Given the description of an element on the screen output the (x, y) to click on. 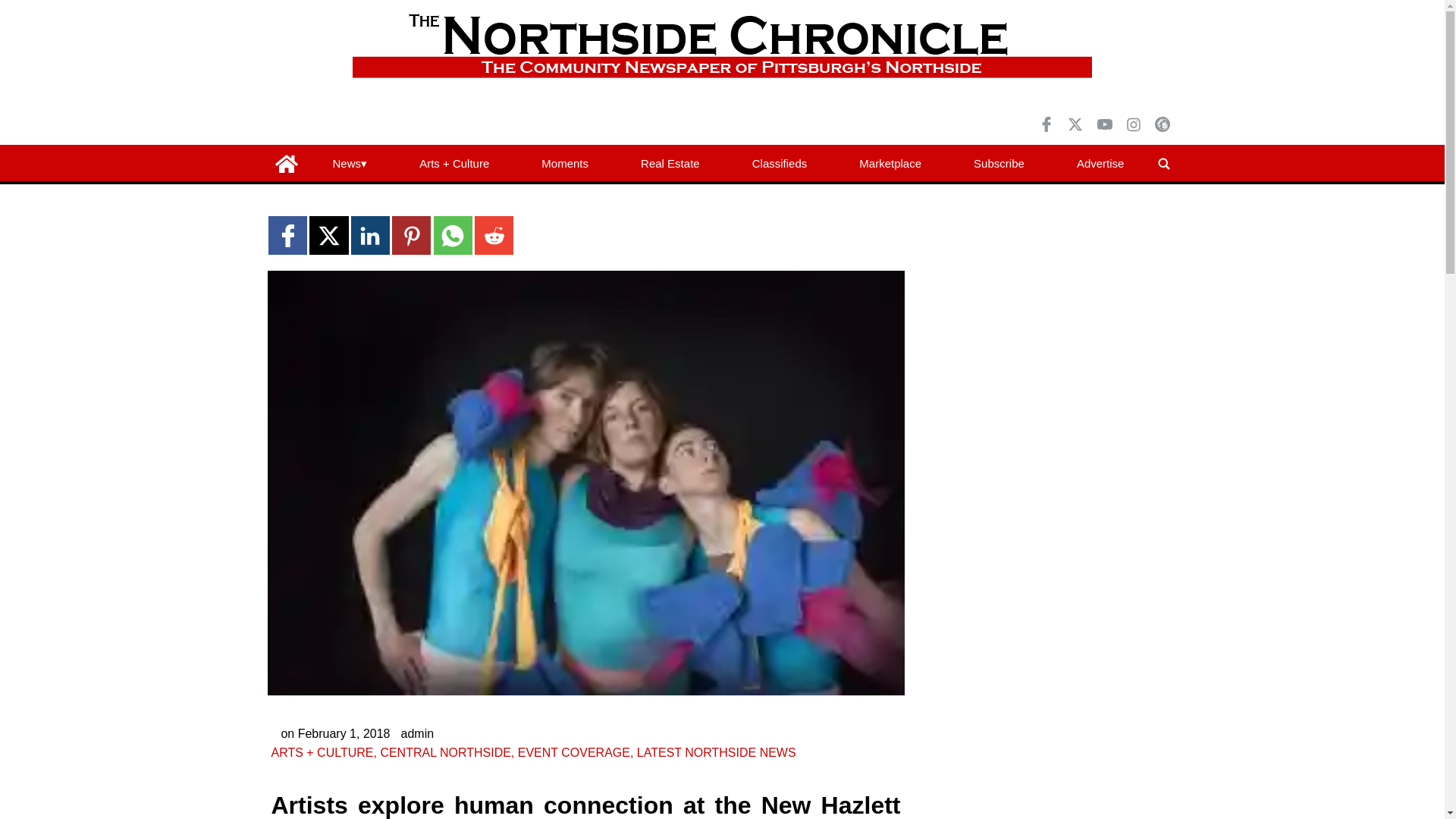
News (349, 164)
Moments (564, 163)
Classifieds (778, 163)
Real Estate (670, 163)
